Given the description of an element on the screen output the (x, y) to click on. 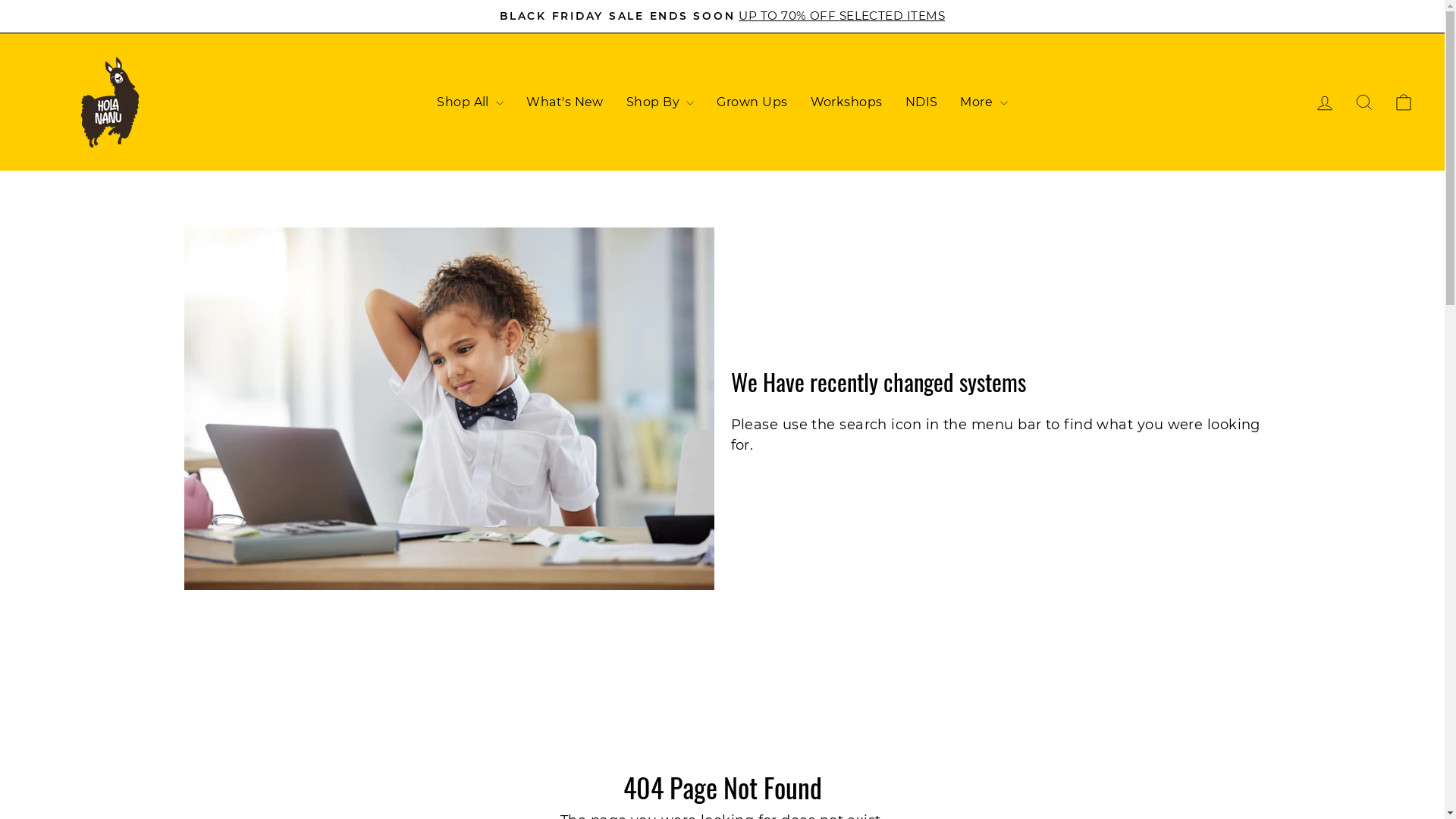
Workshops Element type: text (846, 101)
account
Log in Element type: text (1324, 101)
NDIS Element type: text (921, 101)
Grown Ups Element type: text (751, 101)
icon-search
Search Element type: text (1363, 101)
What's New Element type: text (564, 101)
icon-bag-minimal
Cart Element type: text (1403, 101)
BLACK FRIDAY SALE ENDS SOONUP TO 70% OFF SELECTED ITEMS Element type: text (722, 16)
